Given the description of an element on the screen output the (x, y) to click on. 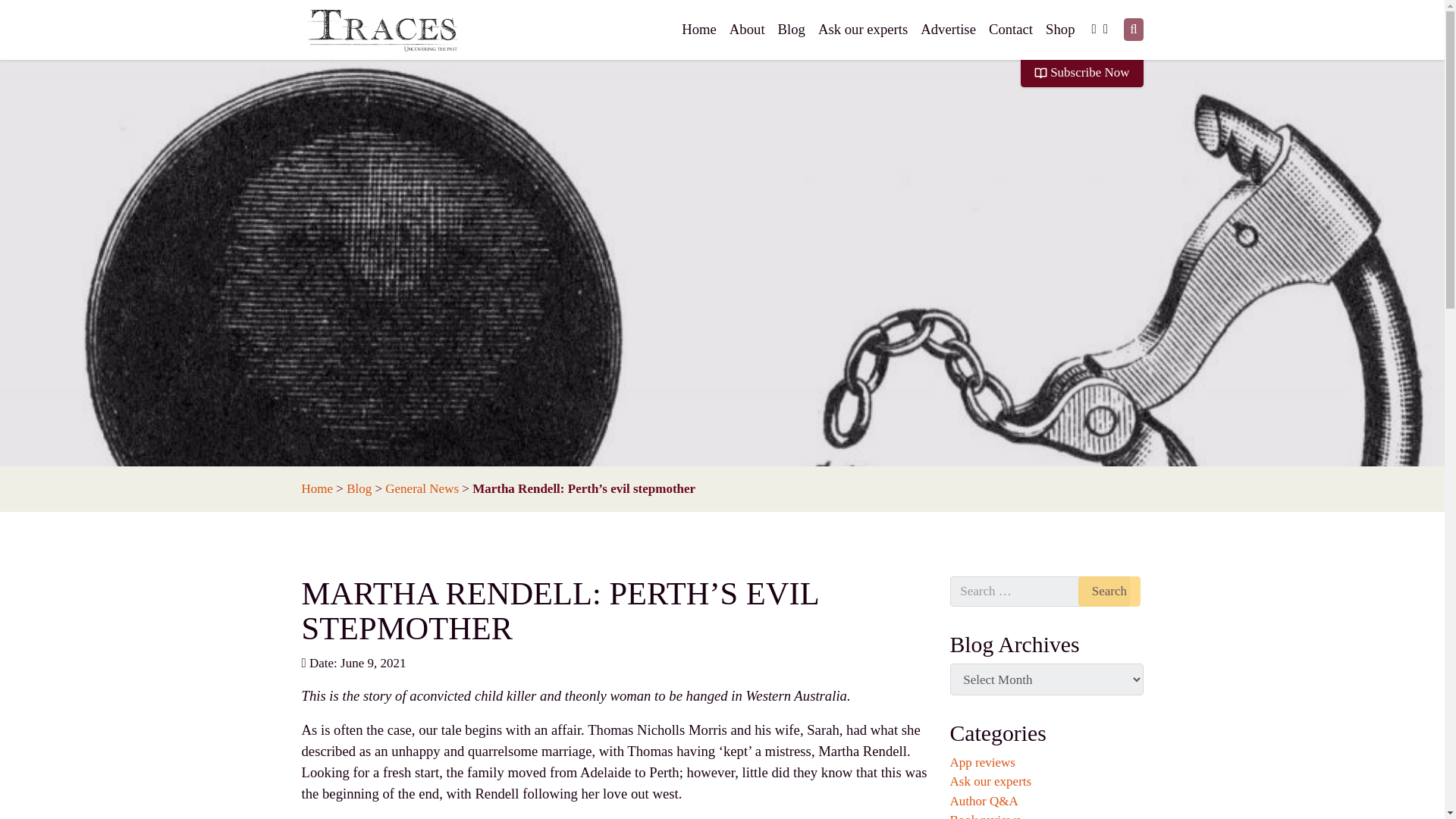
Ask our experts (989, 780)
Home (698, 29)
Ask our experts (862, 29)
Advertise (947, 29)
Ask our experts (862, 29)
Subscribe Now (1081, 71)
Book reviews (984, 816)
Home (698, 29)
Search (1109, 591)
Go to the General News category archives. (421, 488)
App reviews (981, 762)
Blog (358, 488)
Contact (1010, 29)
About (747, 29)
Search (1109, 591)
